Given the description of an element on the screen output the (x, y) to click on. 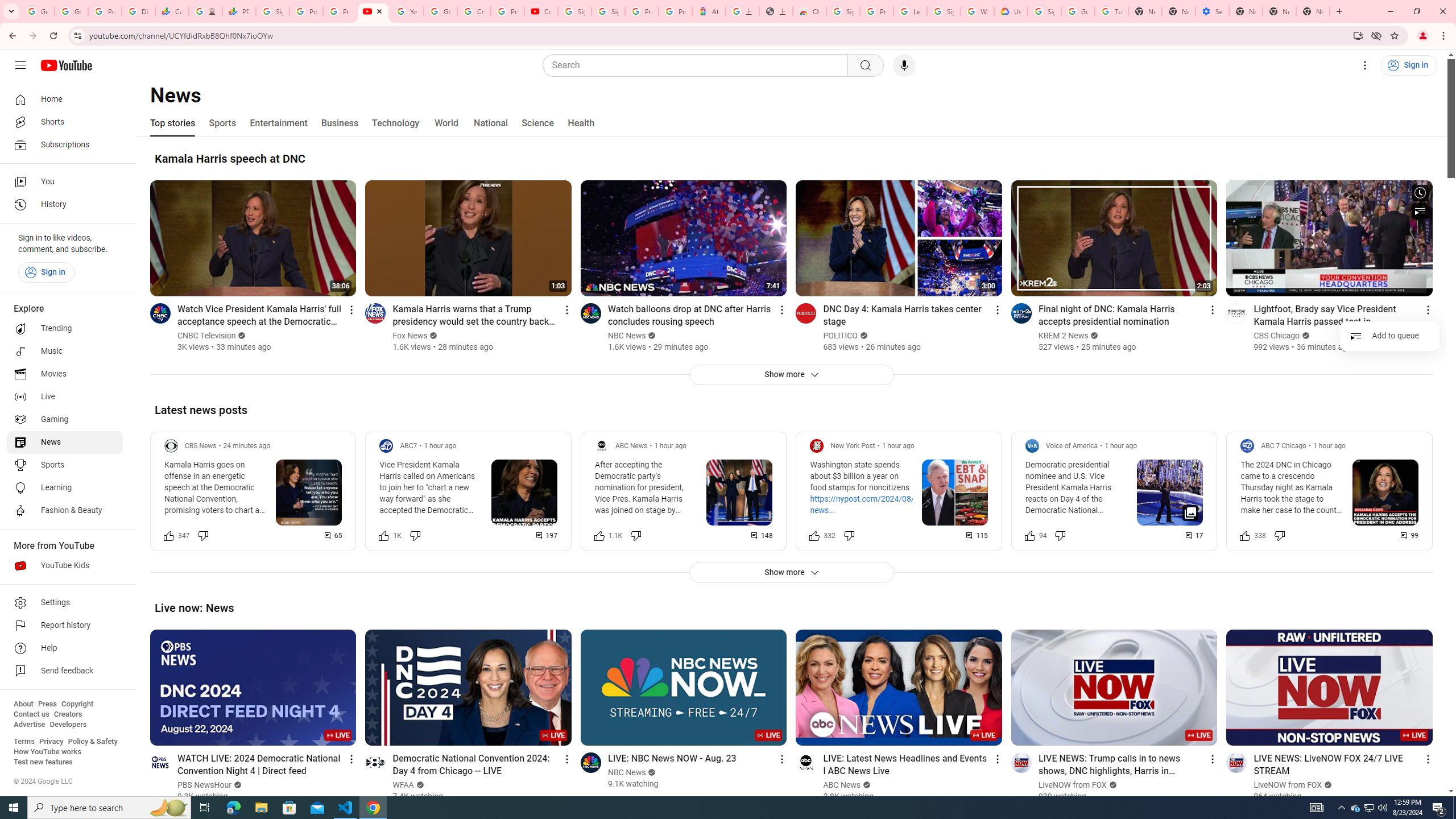
Sign in - Google Accounts (943, 11)
YouTube (372, 11)
POLITICO (840, 335)
Add to queue (1389, 335)
Sports (221, 122)
Fashion & Beauty (64, 510)
Chrome Web Store (809, 11)
